Given the description of an element on the screen output the (x, y) to click on. 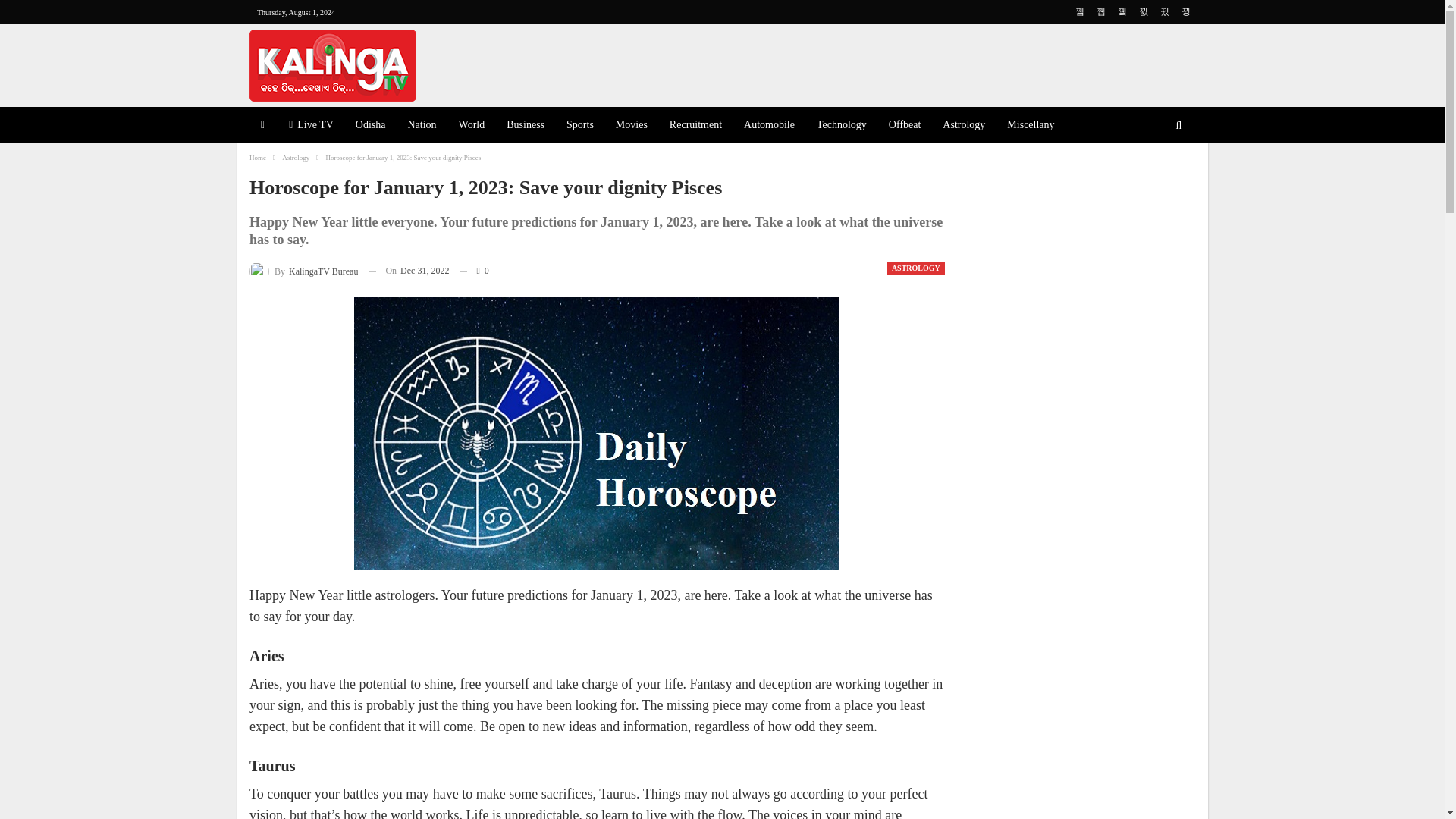
Movies (631, 126)
By KalingaTV Bureau (303, 271)
ASTROLOGY (915, 268)
Recruitment (695, 126)
Miscellany (1029, 126)
Nation (421, 126)
Sports (579, 126)
Astrology (963, 126)
Business (525, 126)
Home (257, 157)
